Given the description of an element on the screen output the (x, y) to click on. 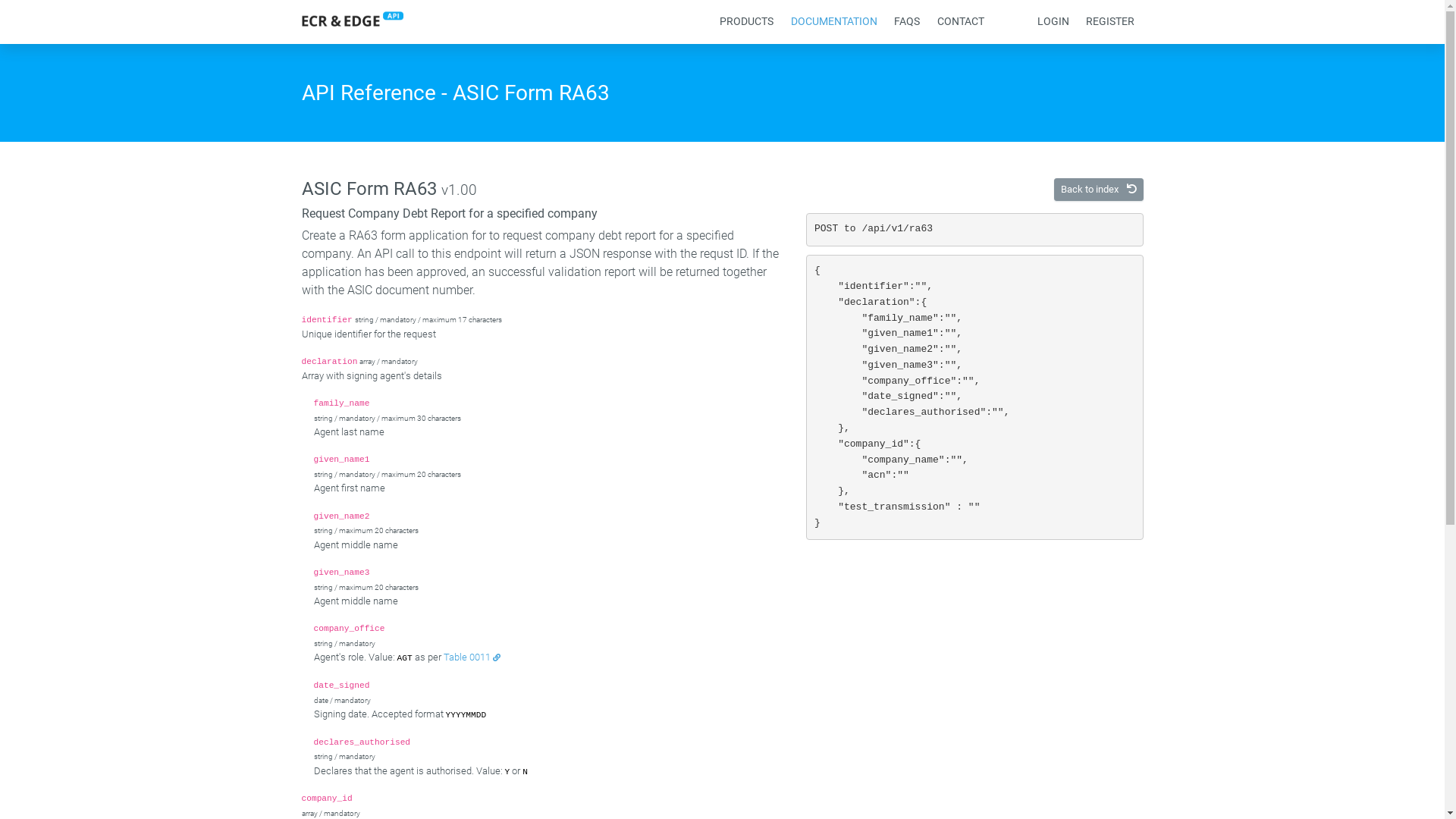
REGISTER Element type: text (1109, 21)
DOCUMENTATION Element type: text (833, 21)
FAQS Element type: text (906, 21)
CONTACT Element type: text (959, 21)
LOGIN Element type: text (1053, 21)
Back to index Element type: text (1098, 189)
PRODUCTS Element type: text (746, 21)
Table 0011 Element type: text (471, 656)
